Given the description of an element on the screen output the (x, y) to click on. 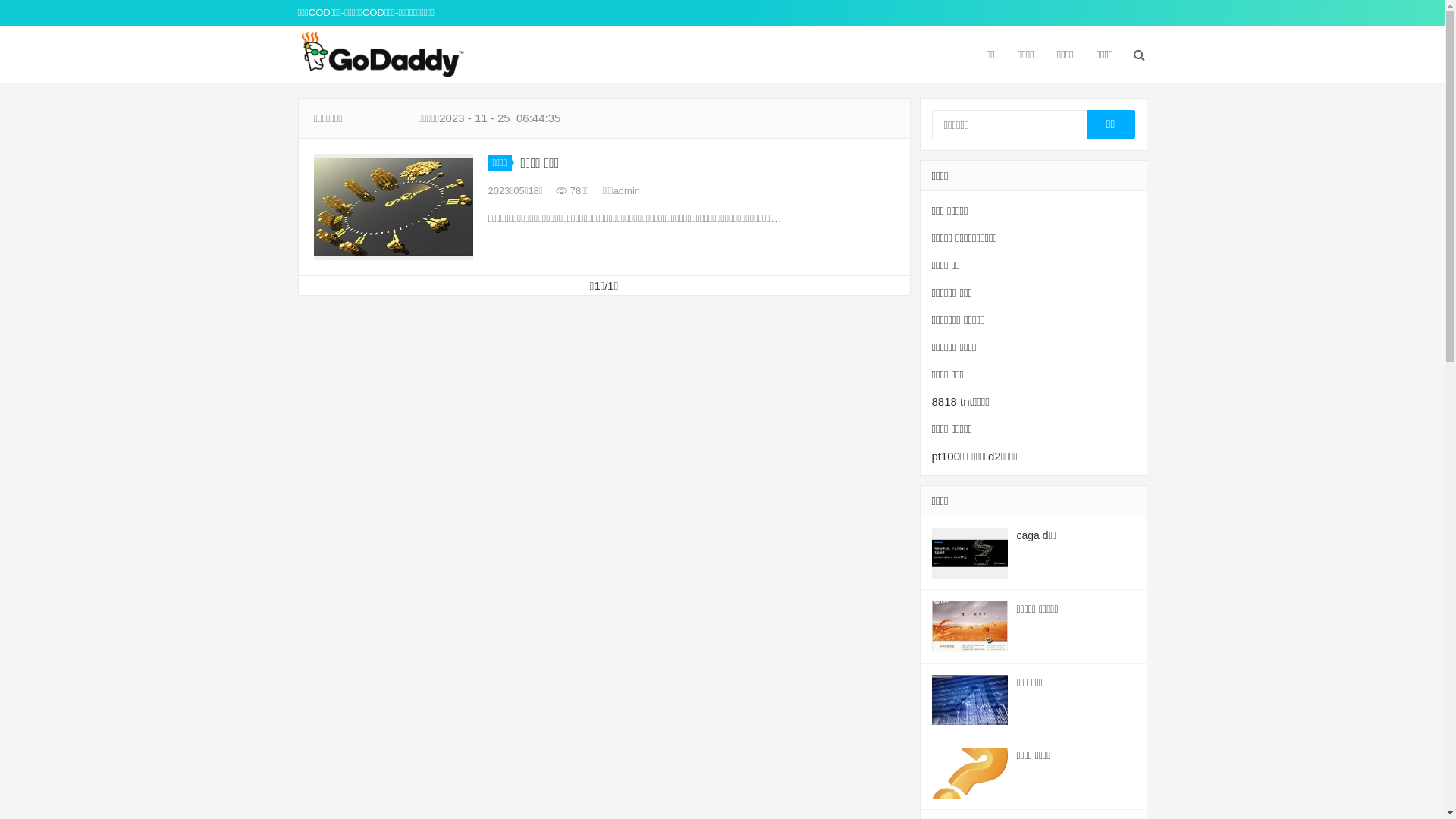
admin Element type: text (626, 190)
